Given the description of an element on the screen output the (x, y) to click on. 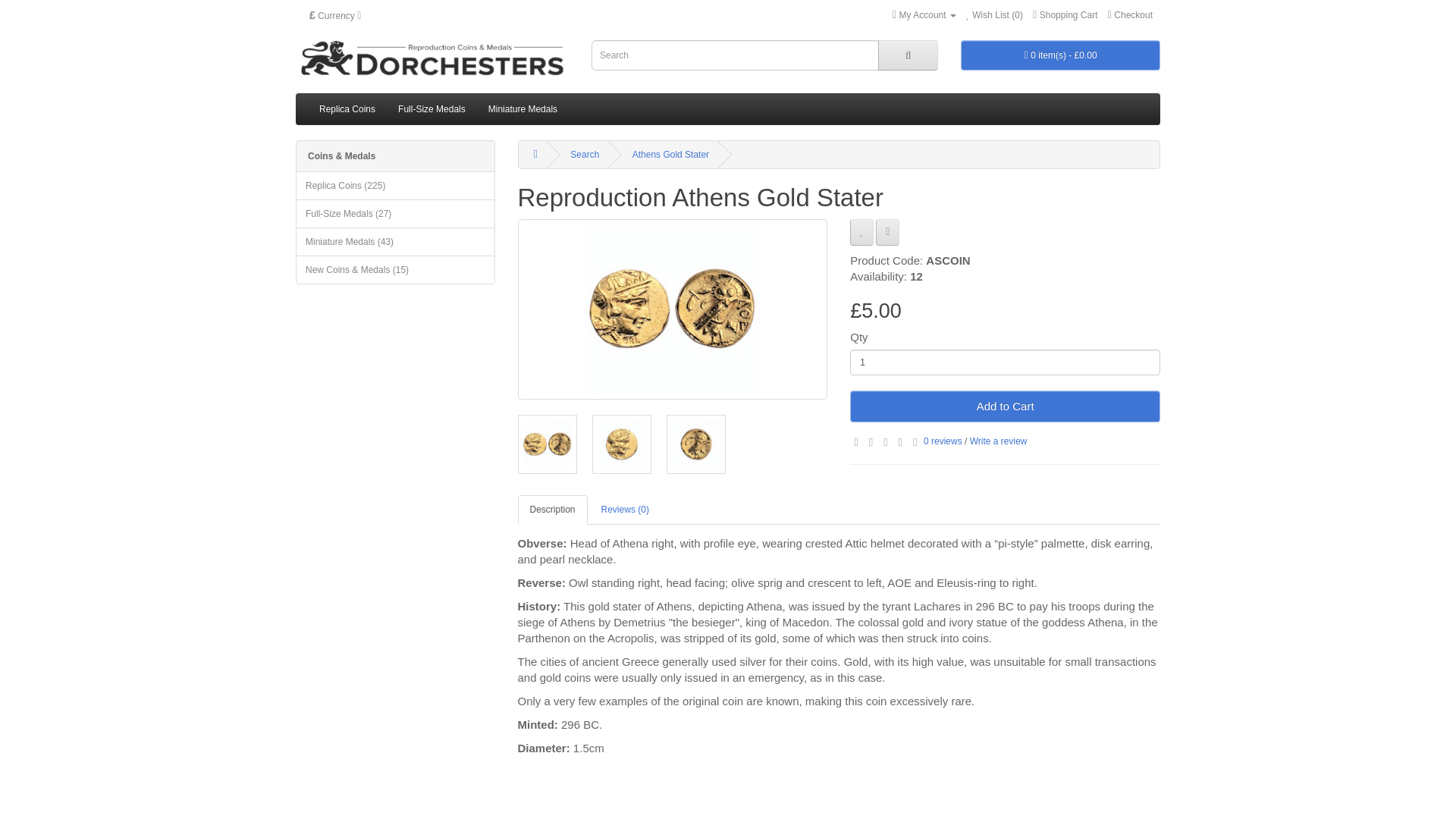
Athens Gold Stater (694, 444)
1 (1005, 362)
Add to Wish List (861, 231)
Replica Coins (347, 109)
Checkout (1130, 14)
Athens Gold Stater (695, 444)
My Account (924, 14)
Shopping Cart (1064, 14)
Athens Gold Stater (671, 309)
Athens Gold Stater (546, 444)
